Given the description of an element on the screen output the (x, y) to click on. 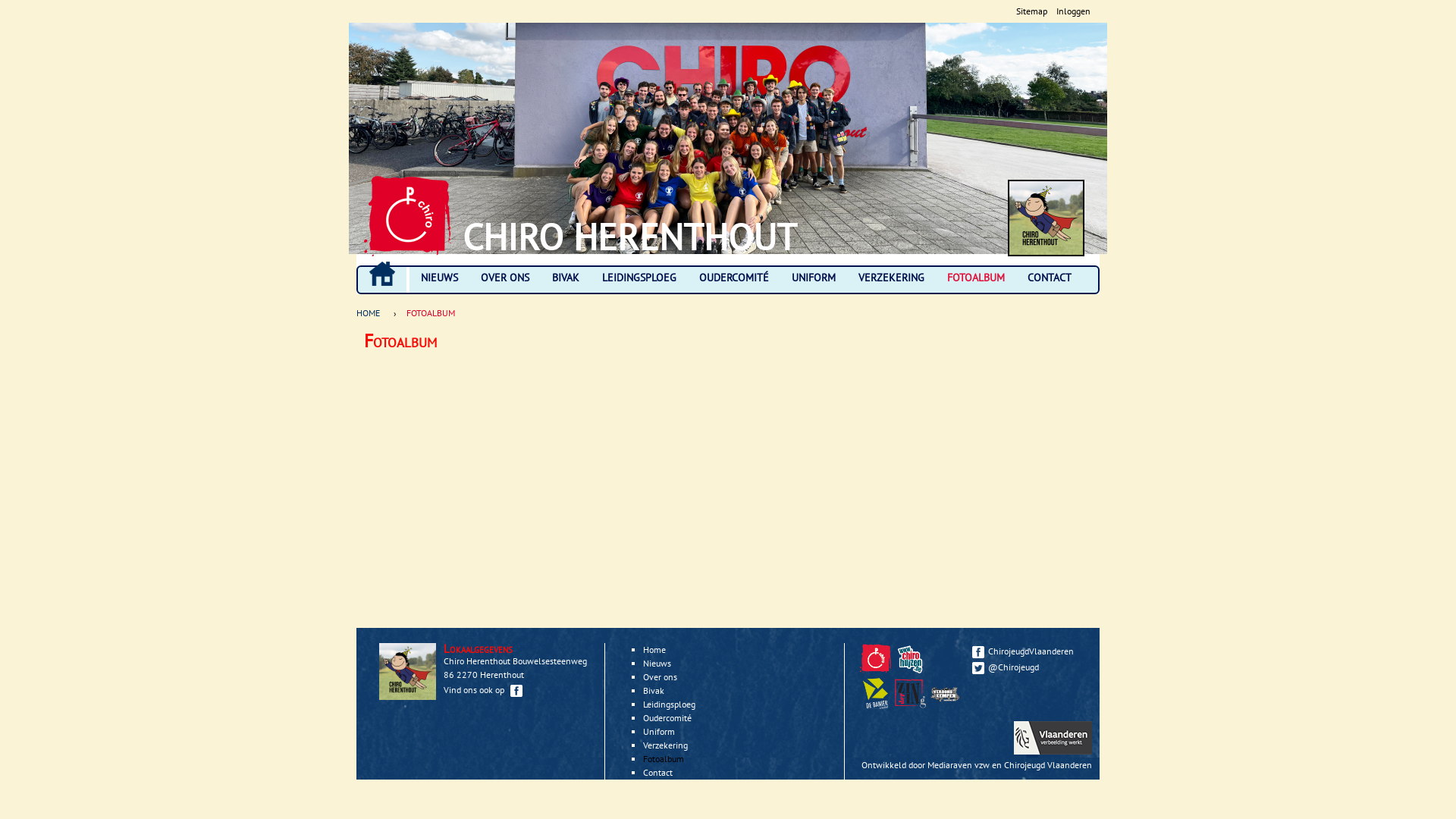
Twitter Element type: hover (978, 668)
OVER ONS Element type: text (504, 277)
HOME Element type: text (371, 312)
Chirojeugd Vlaanderen Element type: hover (876, 670)
Zindering Element type: hover (946, 705)
Verzekering Element type: text (665, 744)
Home Element type: text (654, 649)
Mediaraven vzw Element type: text (958, 764)
UNIFORM Element type: text (813, 277)
Chirojeugd Vlaanderen Element type: hover (875, 658)
CHIRO HERENTHOUT Element type: text (629, 236)
VERZEKERING Element type: text (891, 277)
NIEUWS Element type: text (439, 277)
Chirojeugd Vlaanderen Element type: text (1048, 764)
Chirohuizen Element type: hover (911, 670)
Contact Element type: text (657, 772)
Facebook Element type: hover (516, 690)
Inloggen Element type: text (1073, 10)
Over ons Element type: text (660, 676)
ChirojeugdVlaanderen Element type: text (1028, 650)
@Chirojeugd Element type: text (1028, 666)
Home Element type: hover (407, 215)
HOME Element type: text (381, 273)
Sitemap Element type: text (1031, 10)
LEIDINGSPLOEG Element type: text (638, 277)
Uniform Element type: text (658, 731)
Chirohuizen Element type: hover (909, 658)
Nieuws Element type: text (657, 662)
Zindering Element type: hover (909, 693)
CONTACT Element type: text (1049, 277)
Bivak Element type: text (653, 690)
Verbond Kempen Element type: hover (944, 693)
Fotoalbum Element type: text (663, 758)
Leidingsploeg Element type: text (669, 703)
FOTOALBUM Element type: text (975, 277)
BIVAK Element type: text (565, 277)
Facebook Element type: hover (978, 652)
De Banier Element type: hover (876, 705)
Home Element type: hover (1045, 217)
De Banier Element type: hover (875, 693)
Zindering Element type: hover (911, 705)
